Given the description of an element on the screen output the (x, y) to click on. 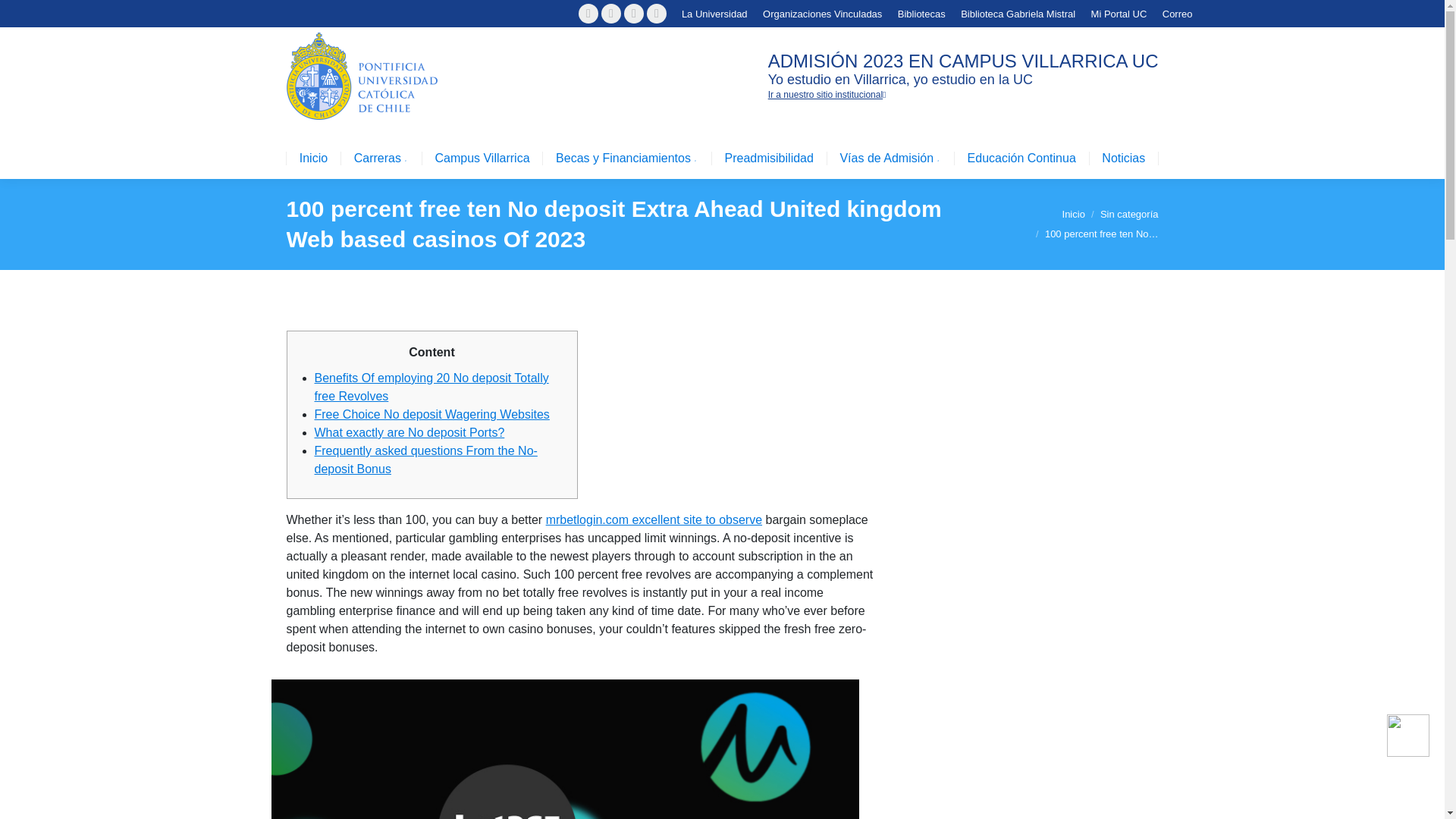
Facebook page opens in new window (588, 13)
La Universidad (714, 12)
Correo (1176, 12)
Carreras (381, 158)
Facebook page opens in new window (588, 13)
Becas y Financiamientos (627, 158)
Instagram page opens in new window (633, 13)
Twitter page opens in new window (611, 13)
Bibliotecas (921, 12)
Preadmisibilidad (769, 158)
